Given the description of an element on the screen output the (x, y) to click on. 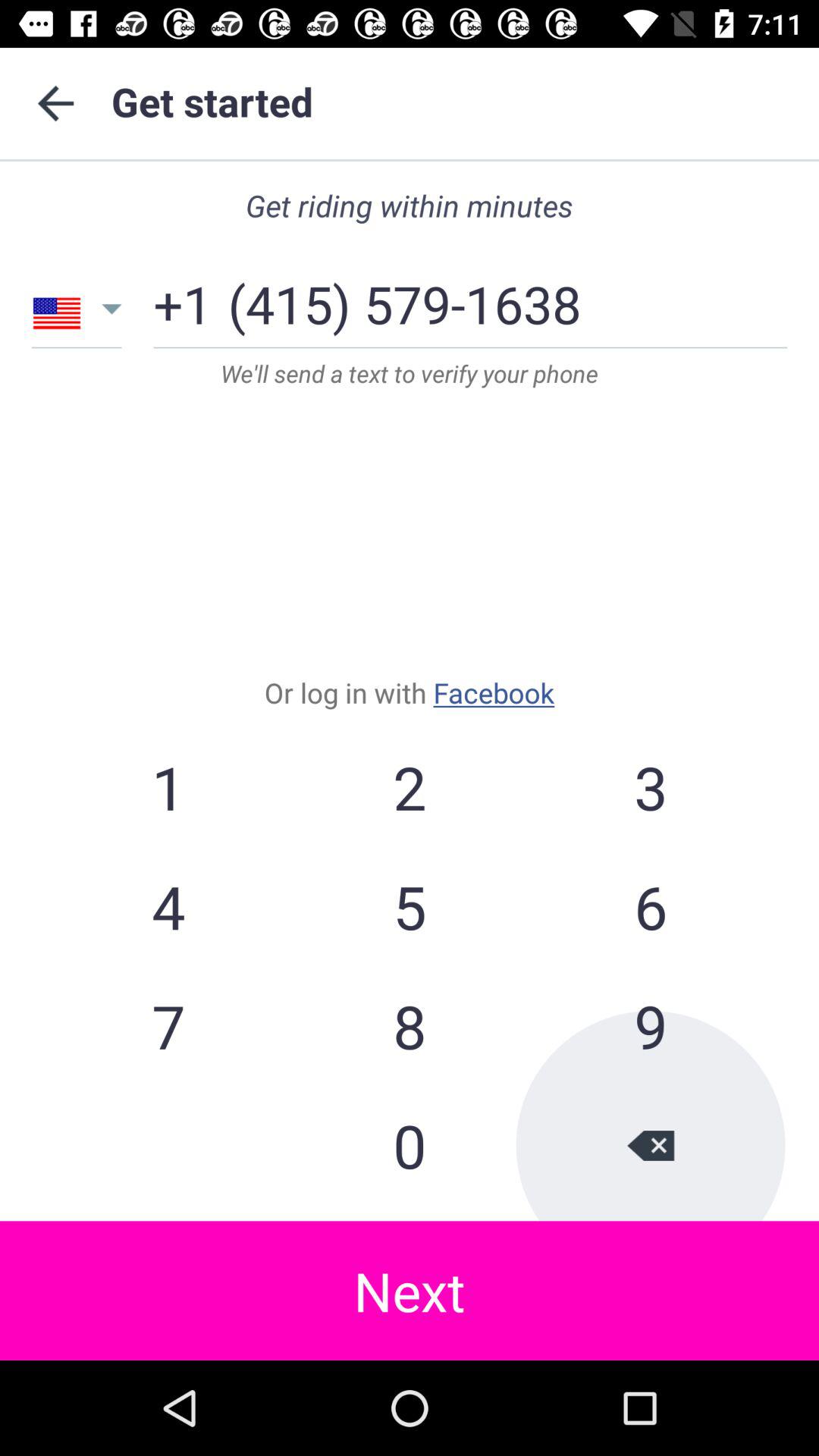
press icon next to the 2 (167, 906)
